Given the description of an element on the screen output the (x, y) to click on. 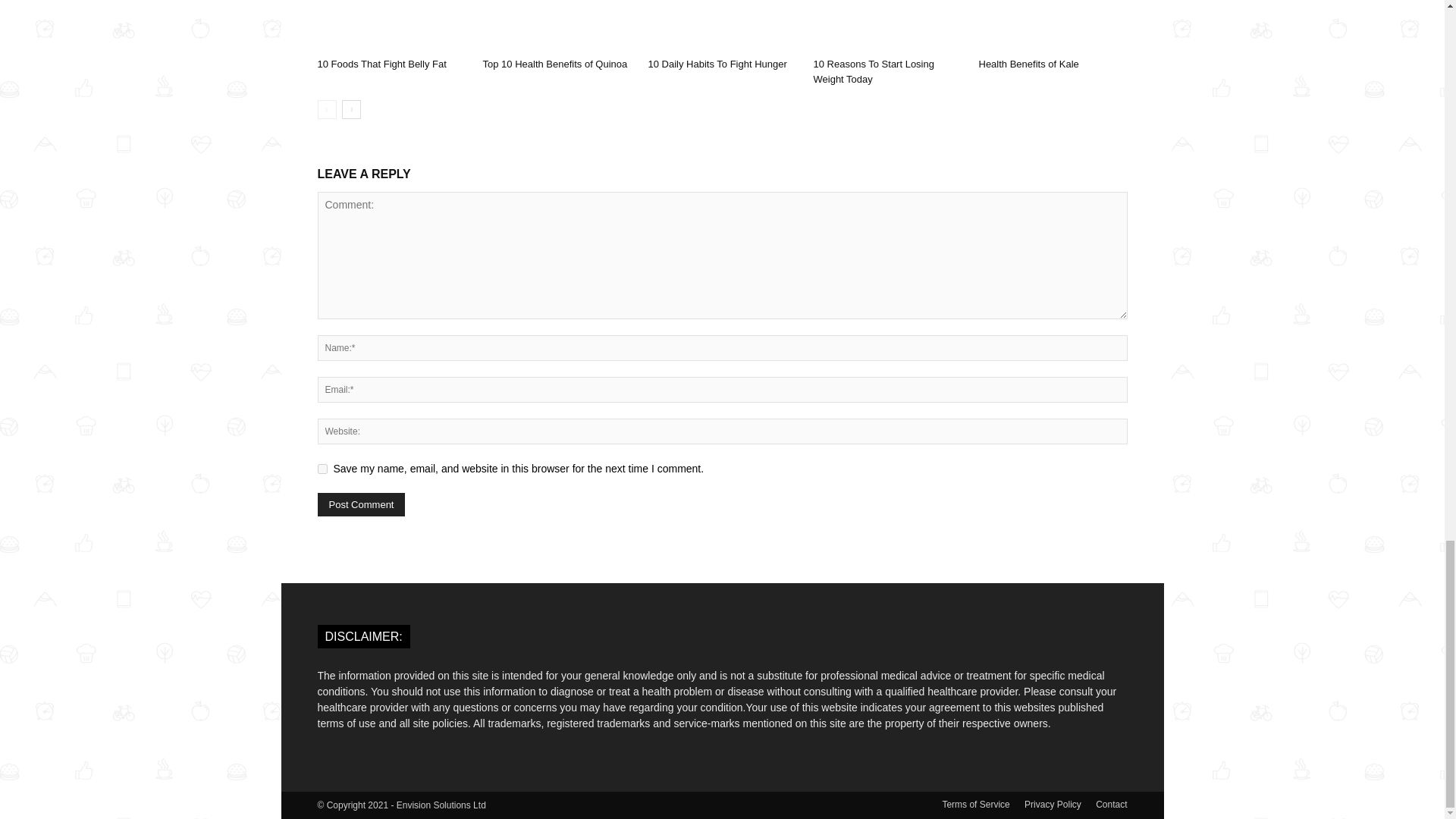
yes (321, 469)
10 Daily Habits To Fight Hunger (721, 26)
Post Comment (360, 504)
Top 10 Health Benefits of Quinoa (555, 26)
10 Foods That Fight Belly Fat (391, 26)
10 Foods That Fight Belly Fat (381, 63)
Top 10 Health Benefits of Quinoa (554, 63)
